Given the description of an element on the screen output the (x, y) to click on. 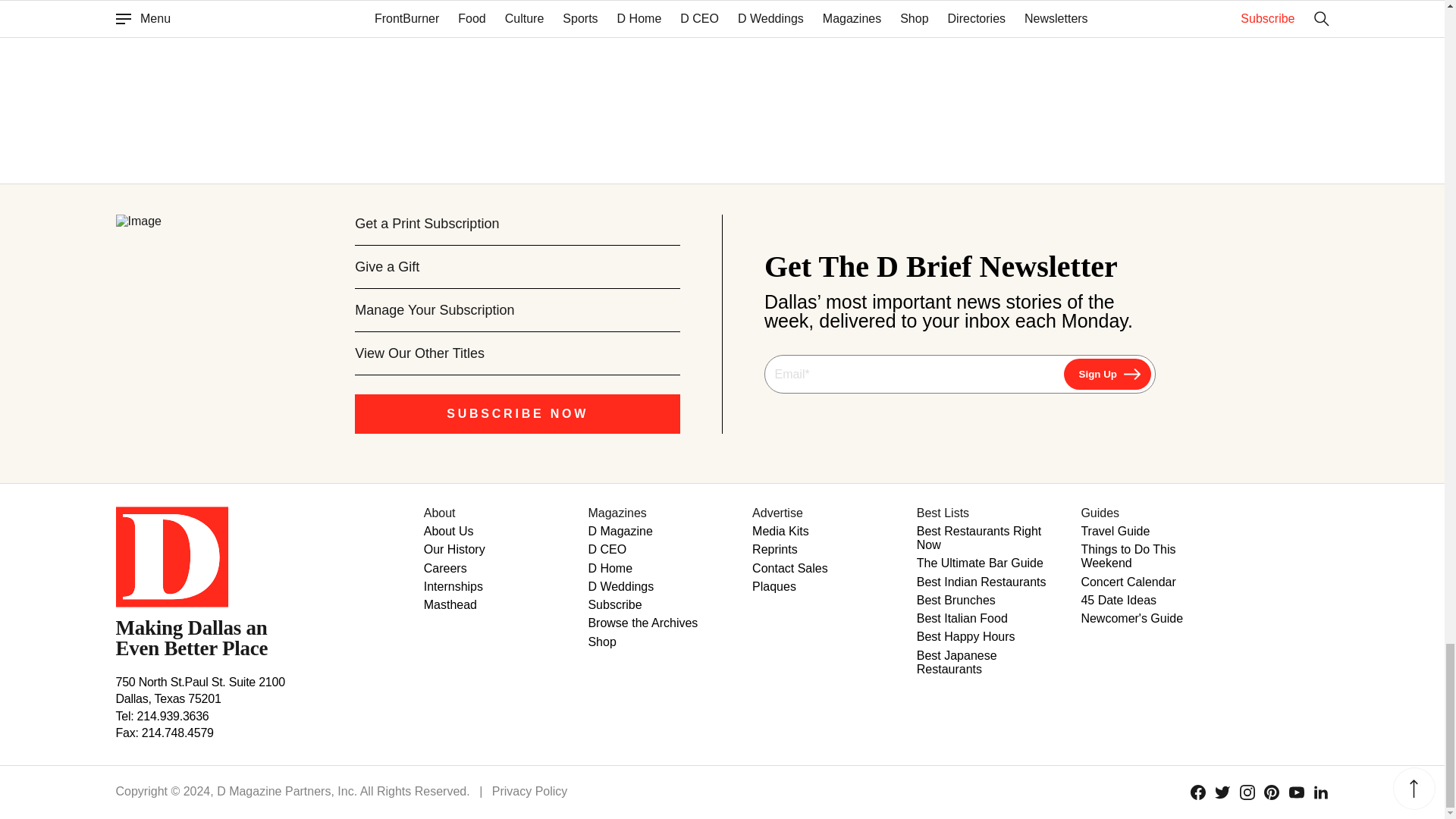
Sign Up (1107, 373)
